Given the description of an element on the screen output the (x, y) to click on. 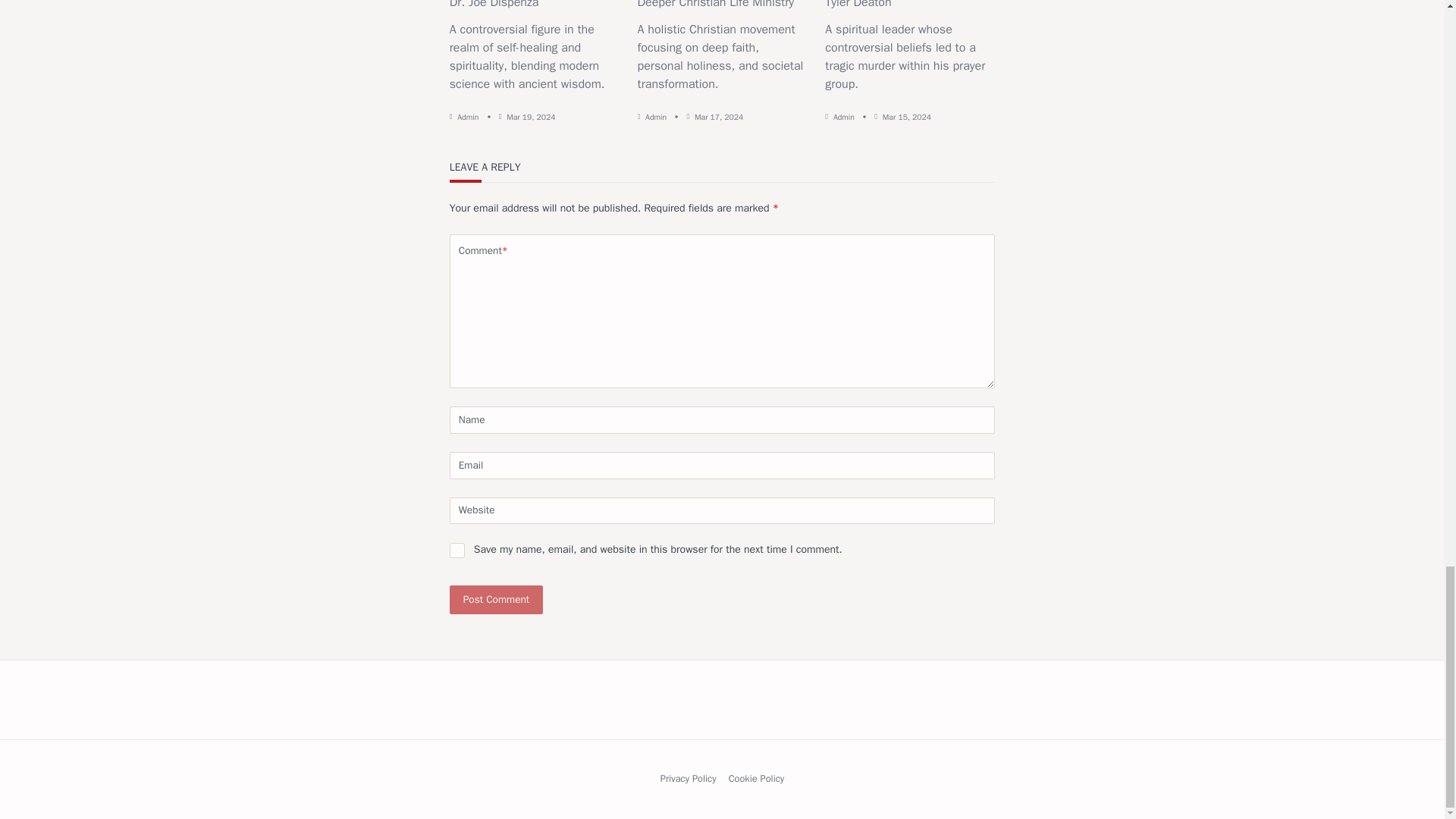
Post Comment (496, 600)
yes (456, 549)
